Given the description of an element on the screen output the (x, y) to click on. 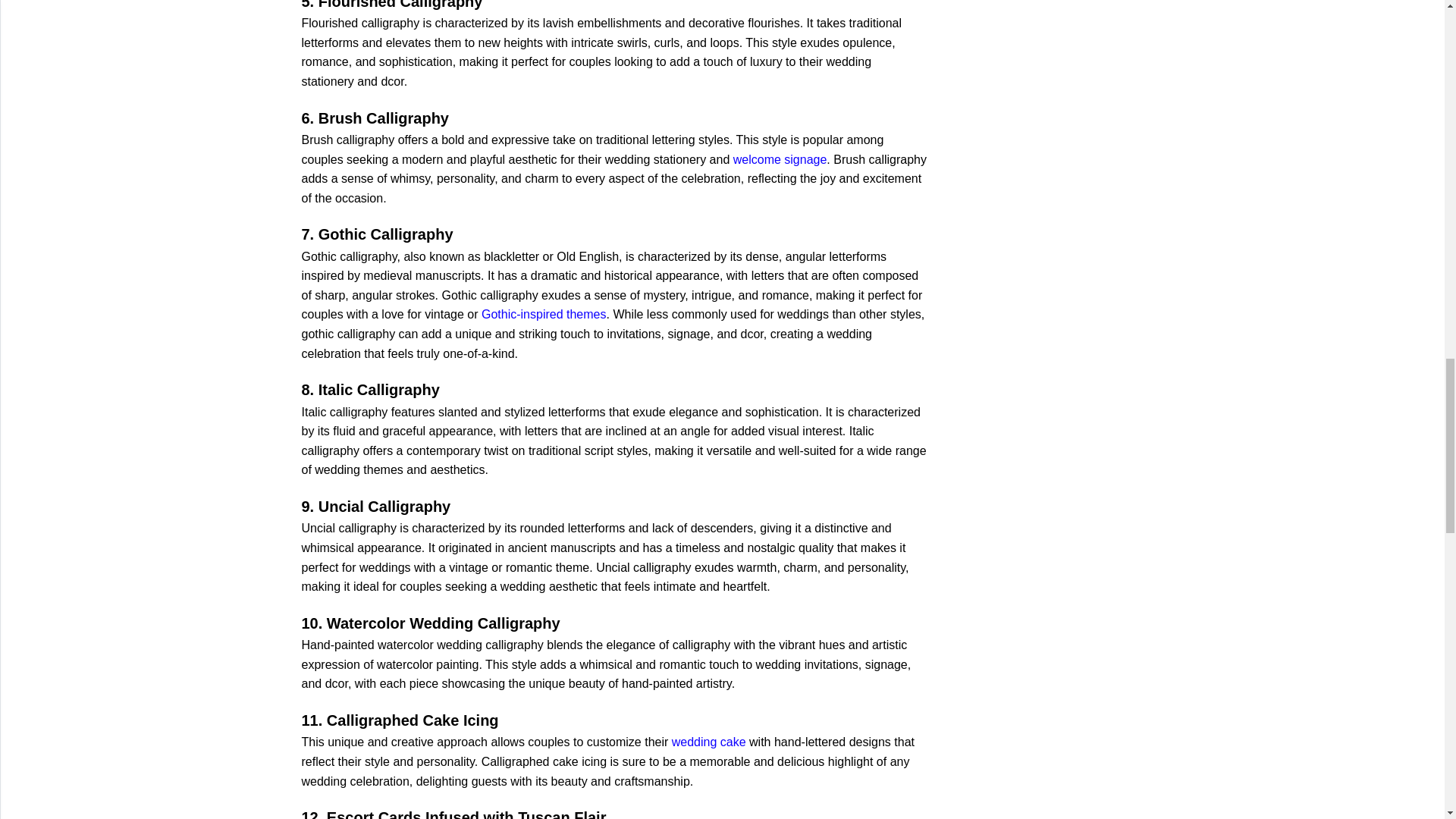
welcome signage (780, 159)
wedding cake (708, 741)
Gothic-inspired themes (544, 314)
